Given the description of an element on the screen output the (x, y) to click on. 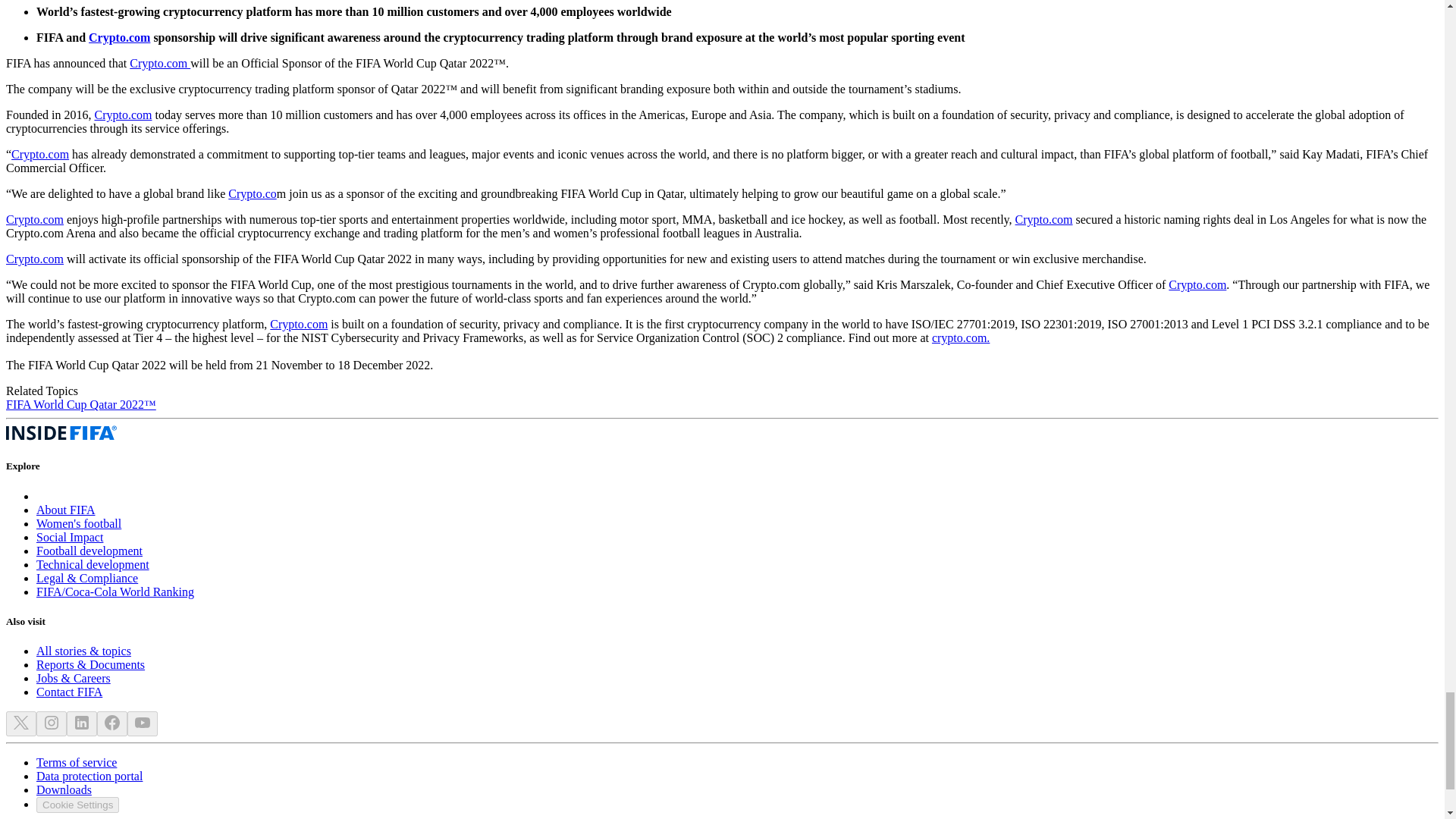
Crypto.com (122, 114)
Crypto.com (34, 258)
Crypto.com (298, 323)
Women's football (78, 522)
Crypto.com (1197, 284)
Crypto.com  (159, 62)
Crypto.com (1043, 219)
Crypto.com (39, 154)
About FIFA (66, 509)
Crypto.com (34, 219)
